Given the description of an element on the screen output the (x, y) to click on. 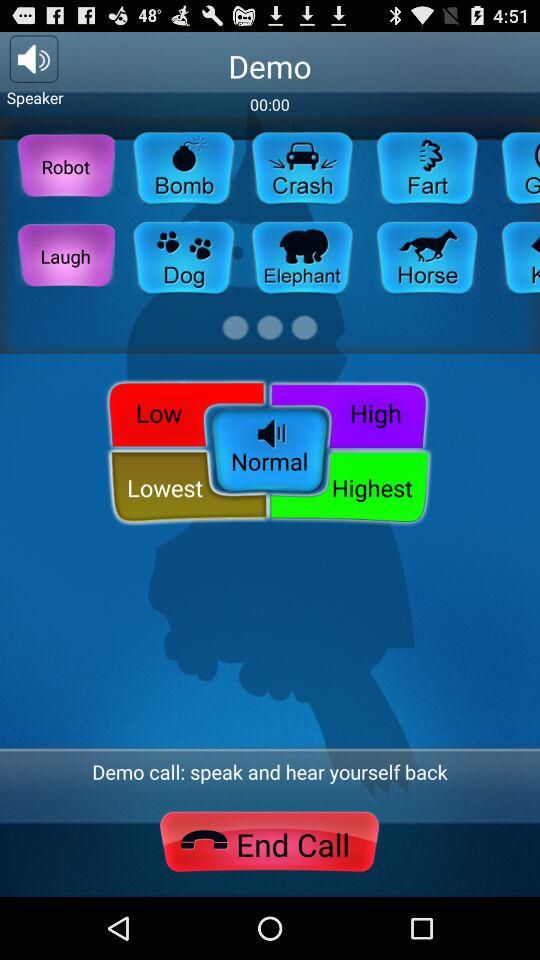
select the robot item (65, 166)
